Given the description of an element on the screen output the (x, y) to click on. 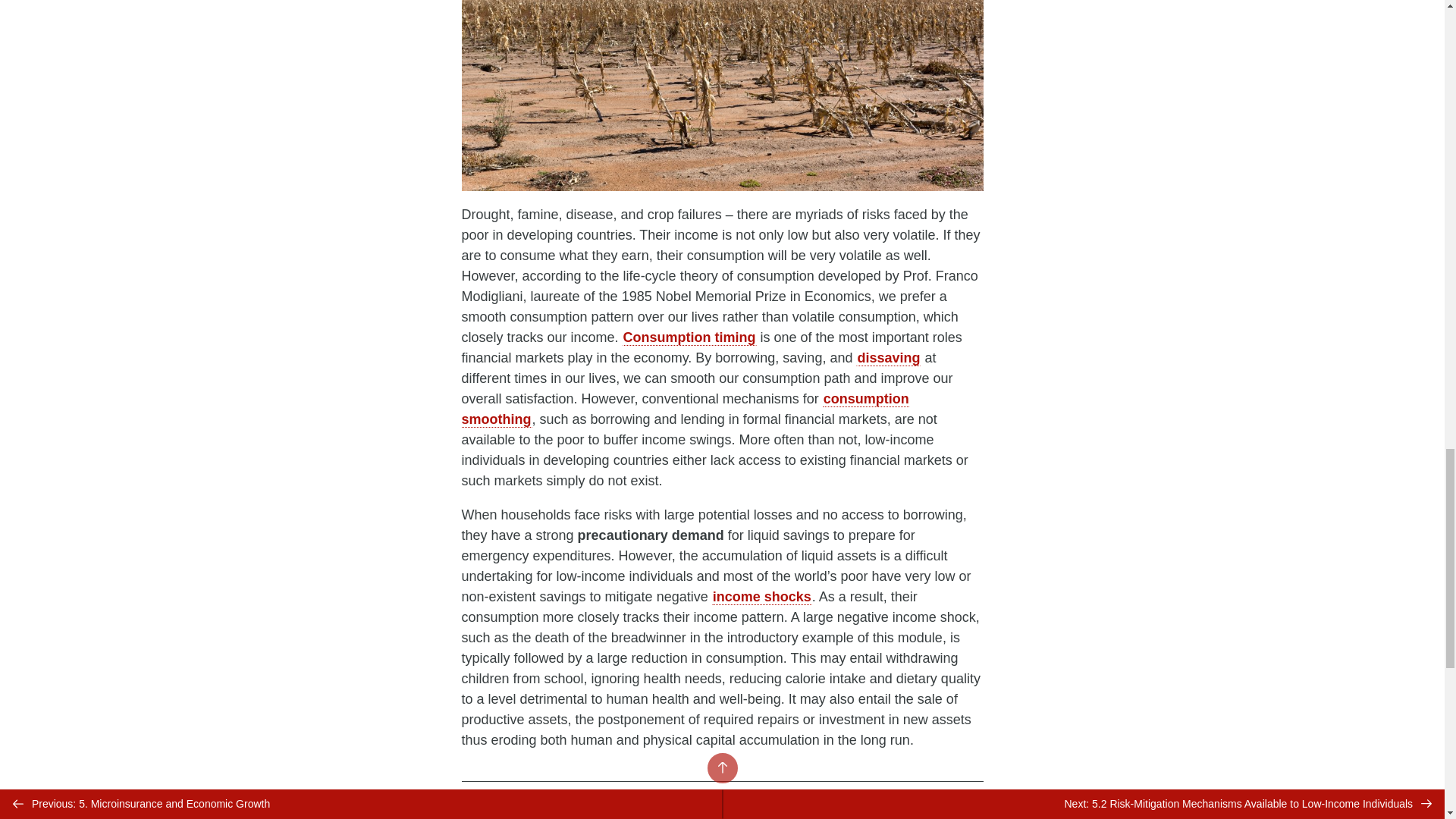
dissaving (888, 357)
Consumption timing (690, 337)
income shocks (761, 596)
consumption smoothing (684, 408)
